Given the description of an element on the screen output the (x, y) to click on. 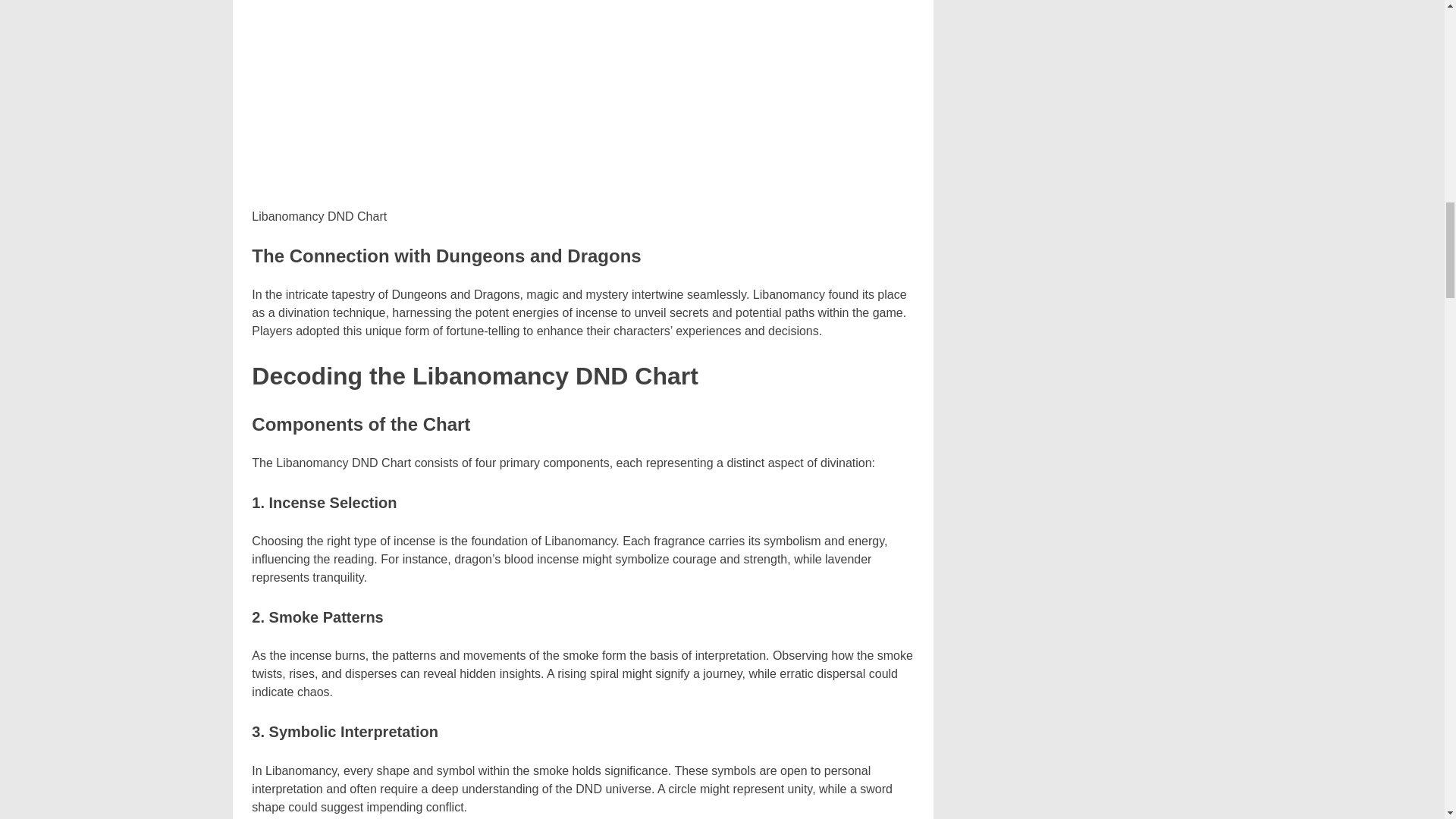
Libanomancy DND Chart: Unlock The Amazing Secrets in 2023 (582, 100)
